Given the description of an element on the screen output the (x, y) to click on. 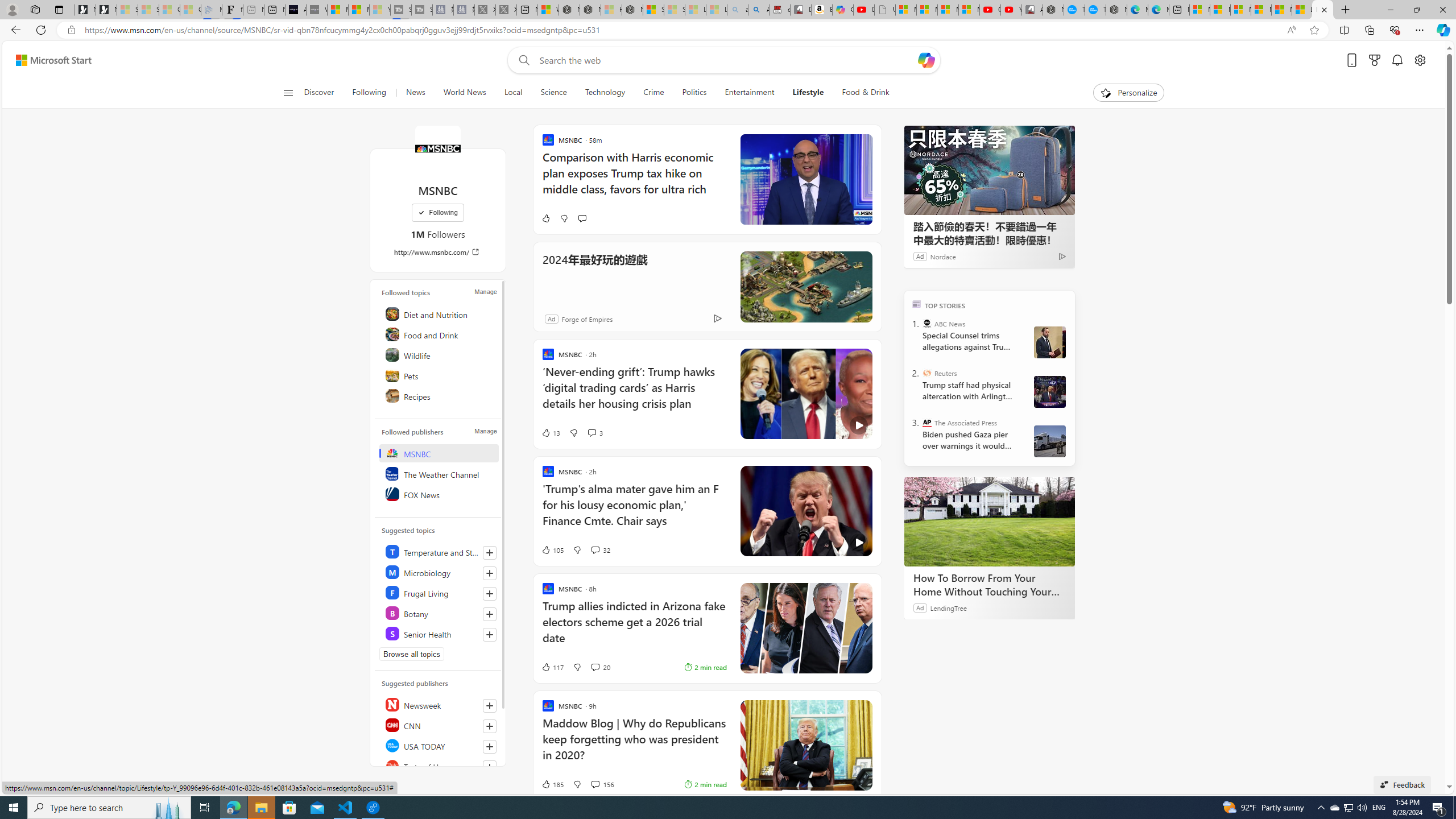
The Weather Channel (439, 473)
Lifestyle (807, 92)
Open navigation menu (287, 92)
World News (464, 92)
Lifestyle (808, 92)
Like (544, 218)
